Given the description of an element on the screen output the (x, y) to click on. 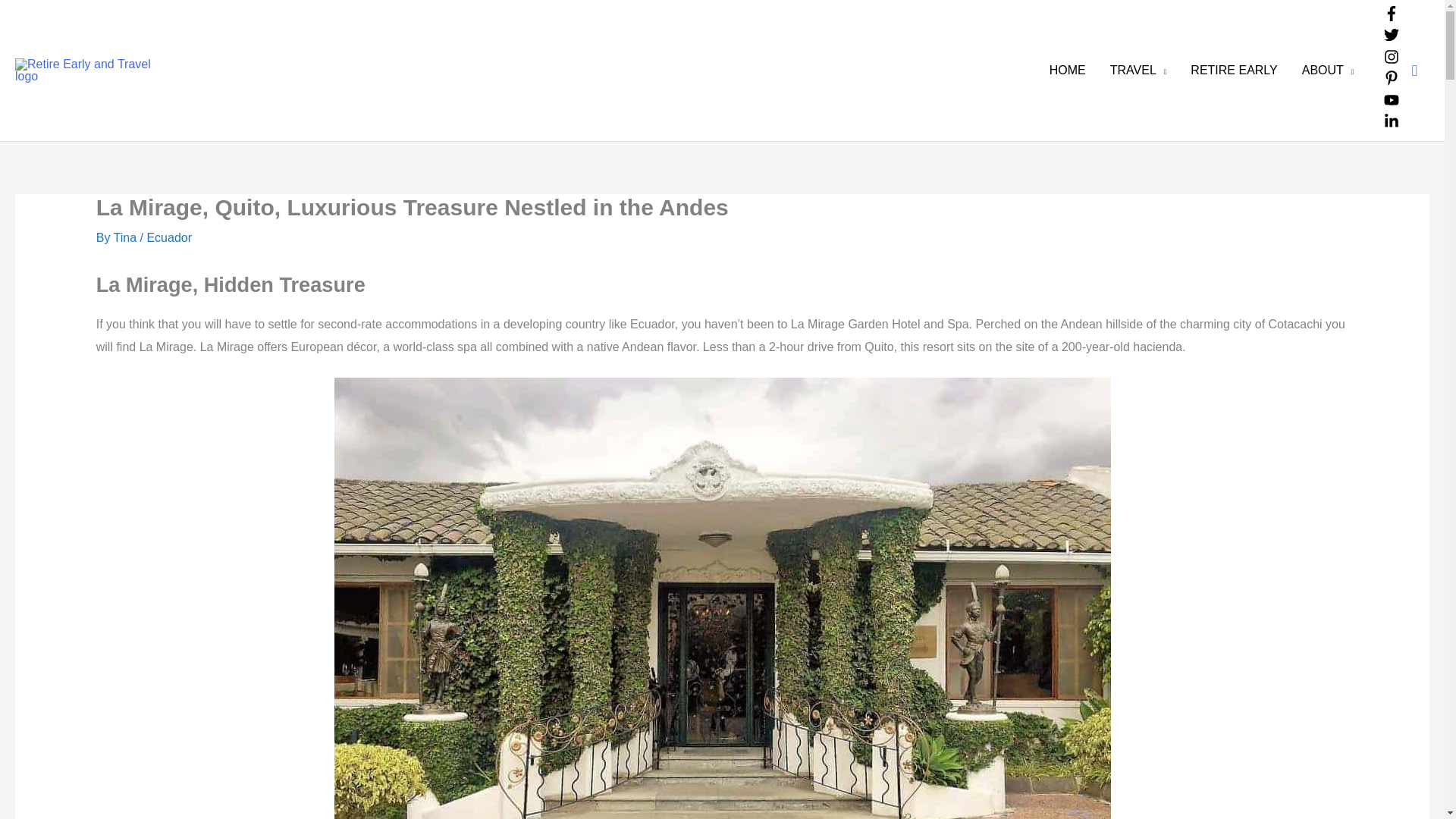
View all posts by Tina (126, 237)
Tina (126, 237)
Ecuador (169, 237)
